Given the description of an element on the screen output the (x, y) to click on. 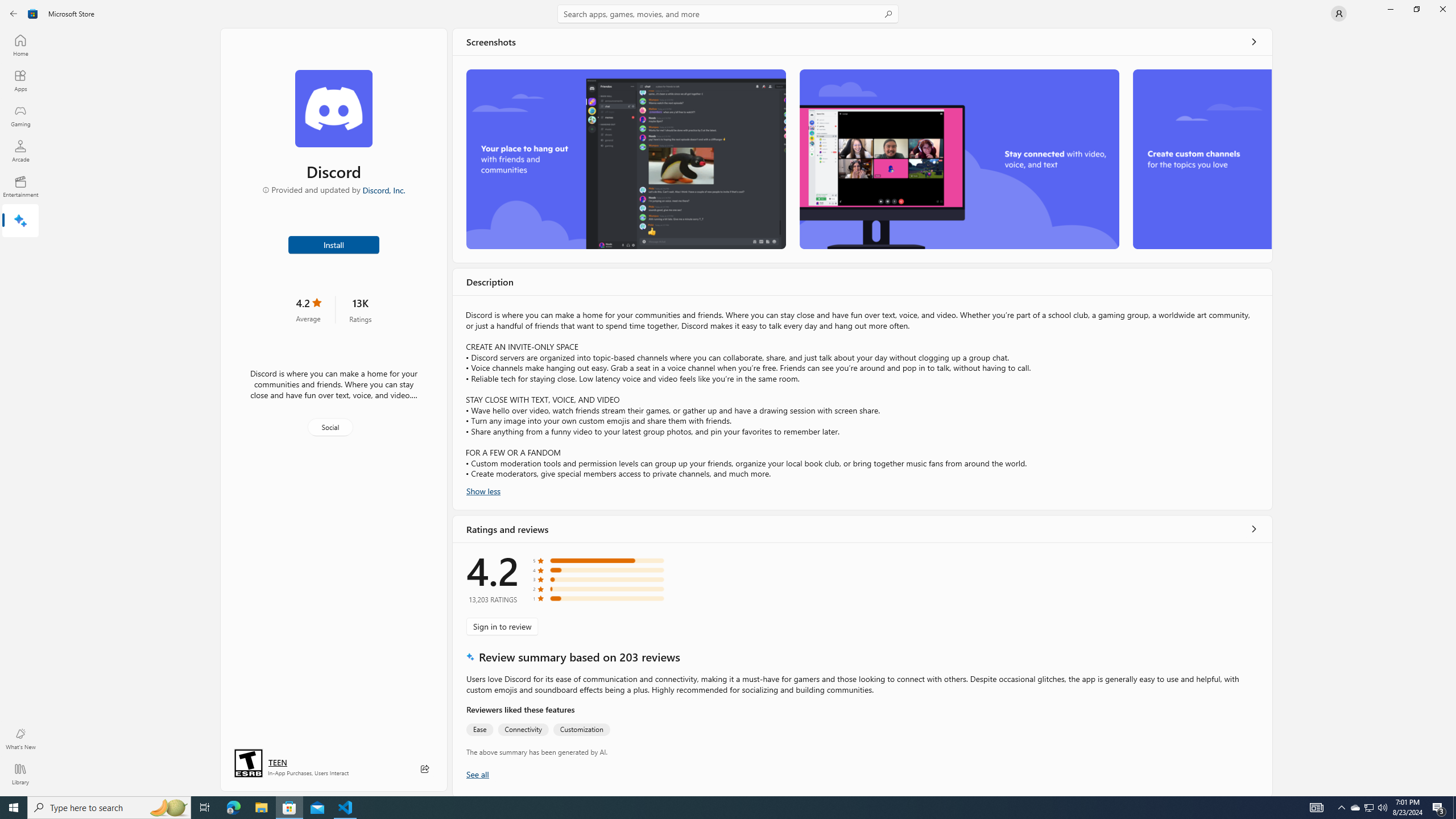
Show all ratings and reviews (477, 773)
Social (329, 426)
4.2 stars. Click to skip to ratings and reviews (307, 309)
Entertainment (20, 185)
Close Microsoft Store (1442, 9)
Home (20, 45)
Search (727, 13)
Discord, Inc. (383, 189)
AutomationID: NavigationControl (728, 398)
Sign in to review (501, 625)
See all (1253, 41)
Age rating: TEEN. Click for more information. (276, 762)
Library (20, 773)
AI Hub (20, 221)
Show less (482, 489)
